Given the description of an element on the screen output the (x, y) to click on. 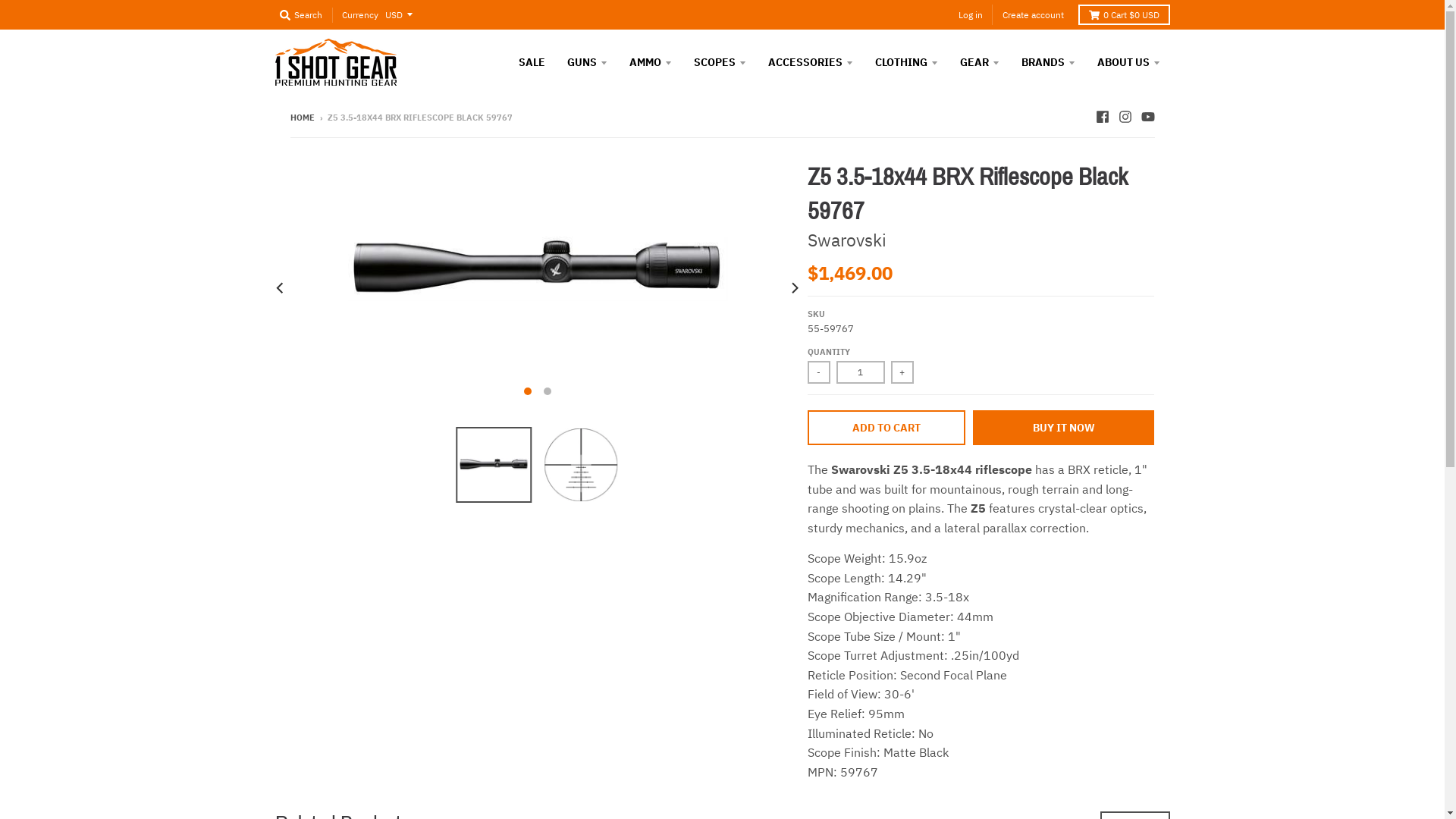
GUNS Element type: text (586, 61)
+ Element type: text (902, 371)
0 Cart $0 USD Element type: text (1124, 14)
GEAR Element type: text (978, 61)
SCOPES Element type: text (720, 61)
ABOUT US Element type: text (1128, 61)
Log in Element type: text (970, 14)
BRANDS Element type: text (1048, 61)
ACCESSORIES Element type: text (810, 61)
SALE Element type: text (531, 61)
HOME Element type: text (301, 117)
Search Element type: text (300, 14)
AMMO Element type: text (649, 61)
YouTube - 1 Shot Gear Element type: hover (1147, 116)
BUY IT NOW Element type: text (1063, 427)
Instagram - 1 Shot Gear Element type: hover (1124, 116)
Facebook - 1 Shot Gear Element type: hover (1101, 116)
Create account Element type: text (1032, 14)
CLOTHING Element type: text (905, 61)
Swarovski Element type: text (846, 240)
ADD TO CART Element type: text (886, 427)
- Element type: text (818, 371)
